Given the description of an element on the screen output the (x, y) to click on. 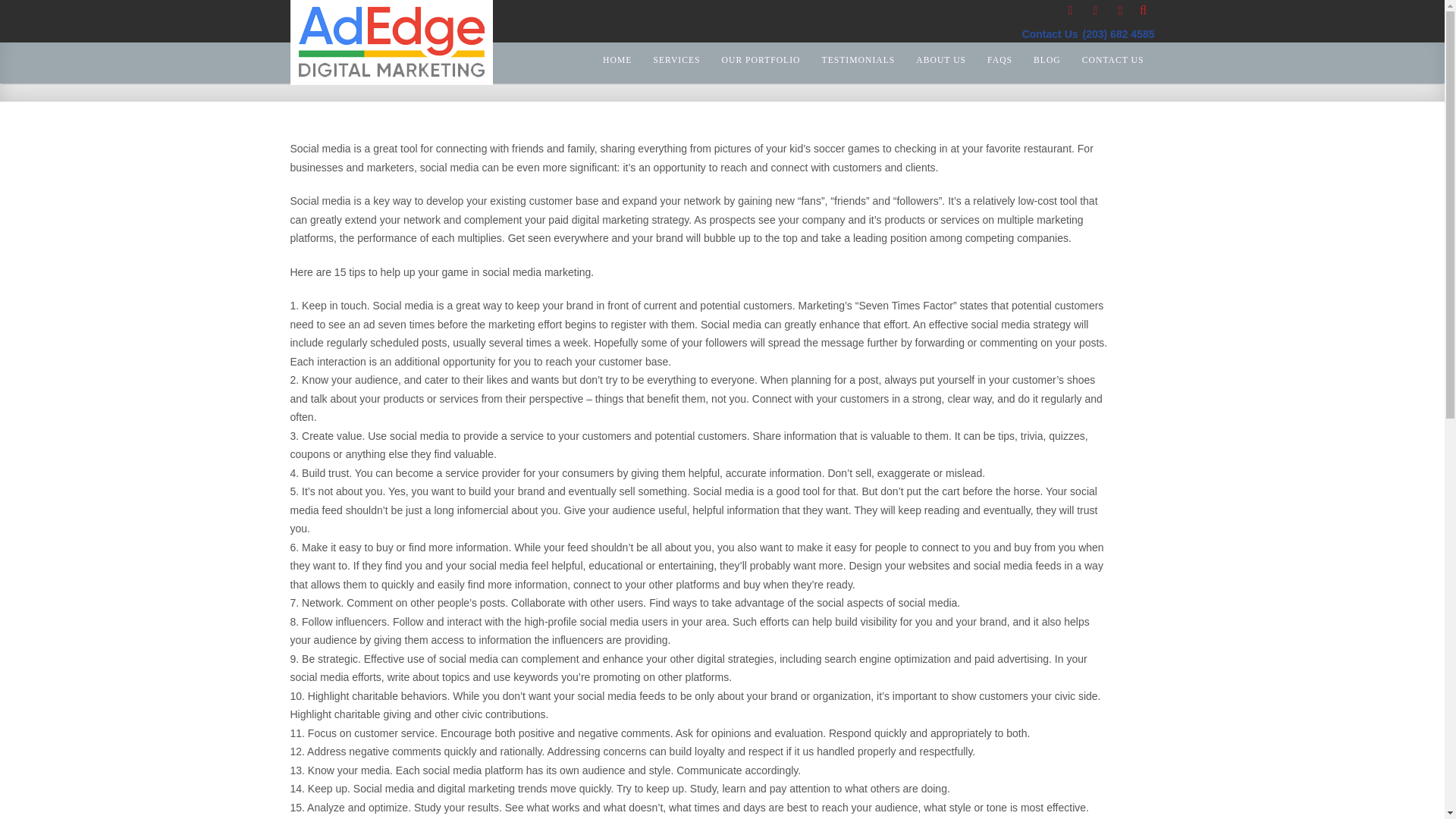
TESTIMONIALS (858, 59)
Twitter (1070, 11)
Facebook (1094, 11)
CONTACT US (1113, 59)
SERVICES (675, 59)
HOME (616, 59)
FAQS (999, 59)
BLOG (1046, 59)
LinkedIn (1120, 11)
ABOUT US (941, 59)
OUR PORTFOLIO (761, 59)
